Given the description of an element on the screen output the (x, y) to click on. 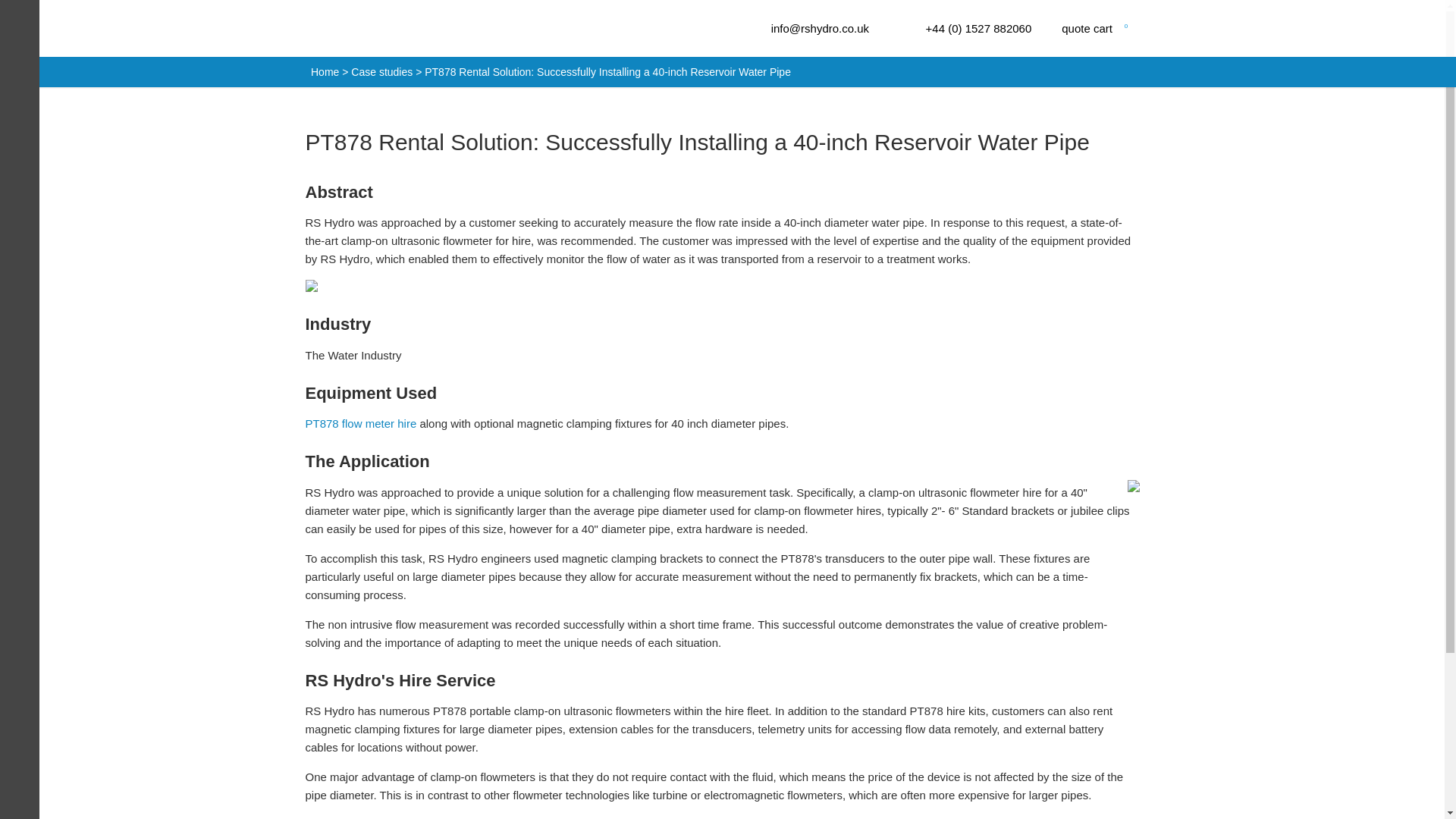
Home (325, 71)
Case studies (1102, 28)
PT878 flow meter hire (381, 71)
